Given the description of an element on the screen output the (x, y) to click on. 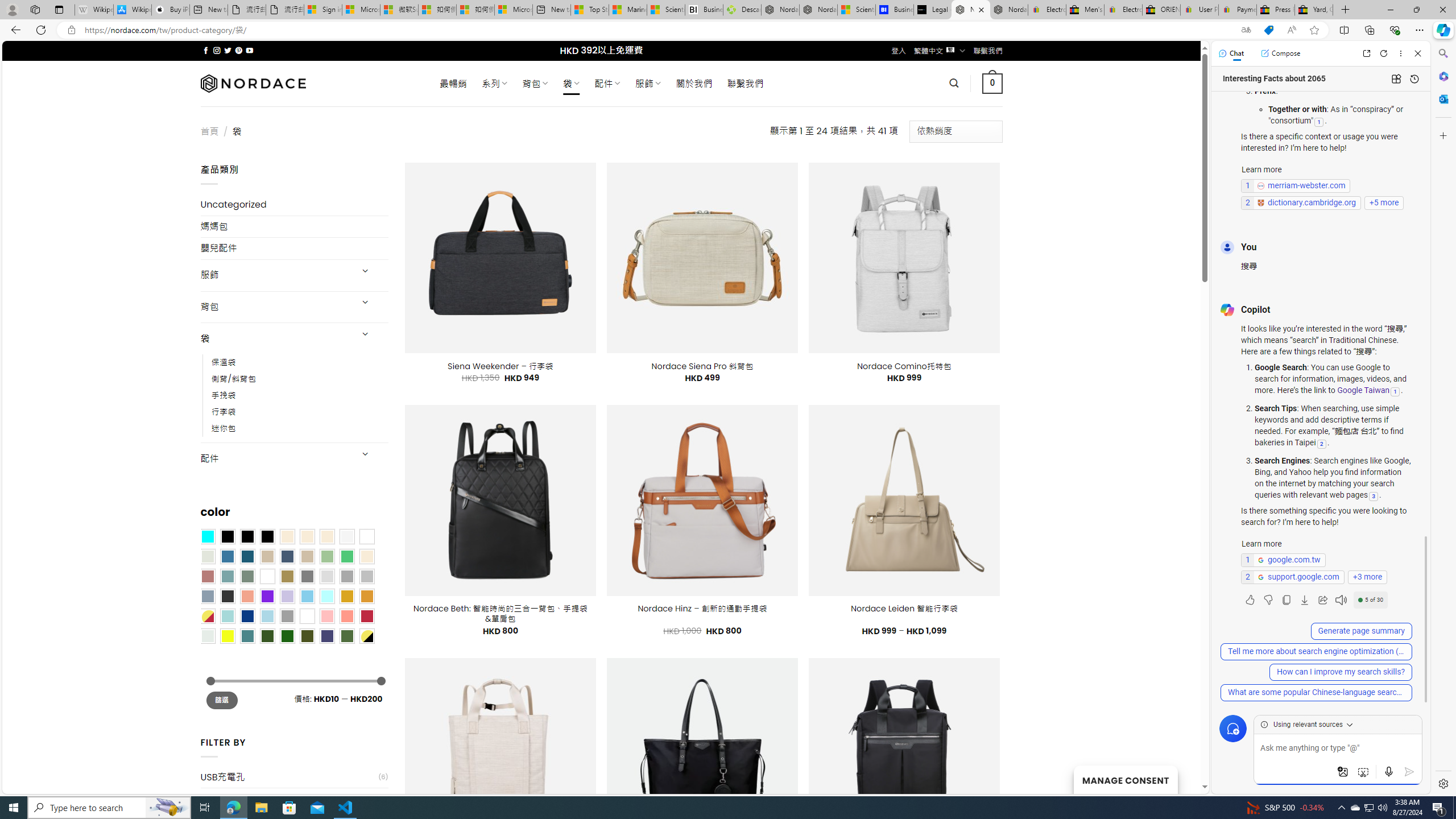
MANAGE CONSENT (1125, 779)
